Given the description of an element on the screen output the (x, y) to click on. 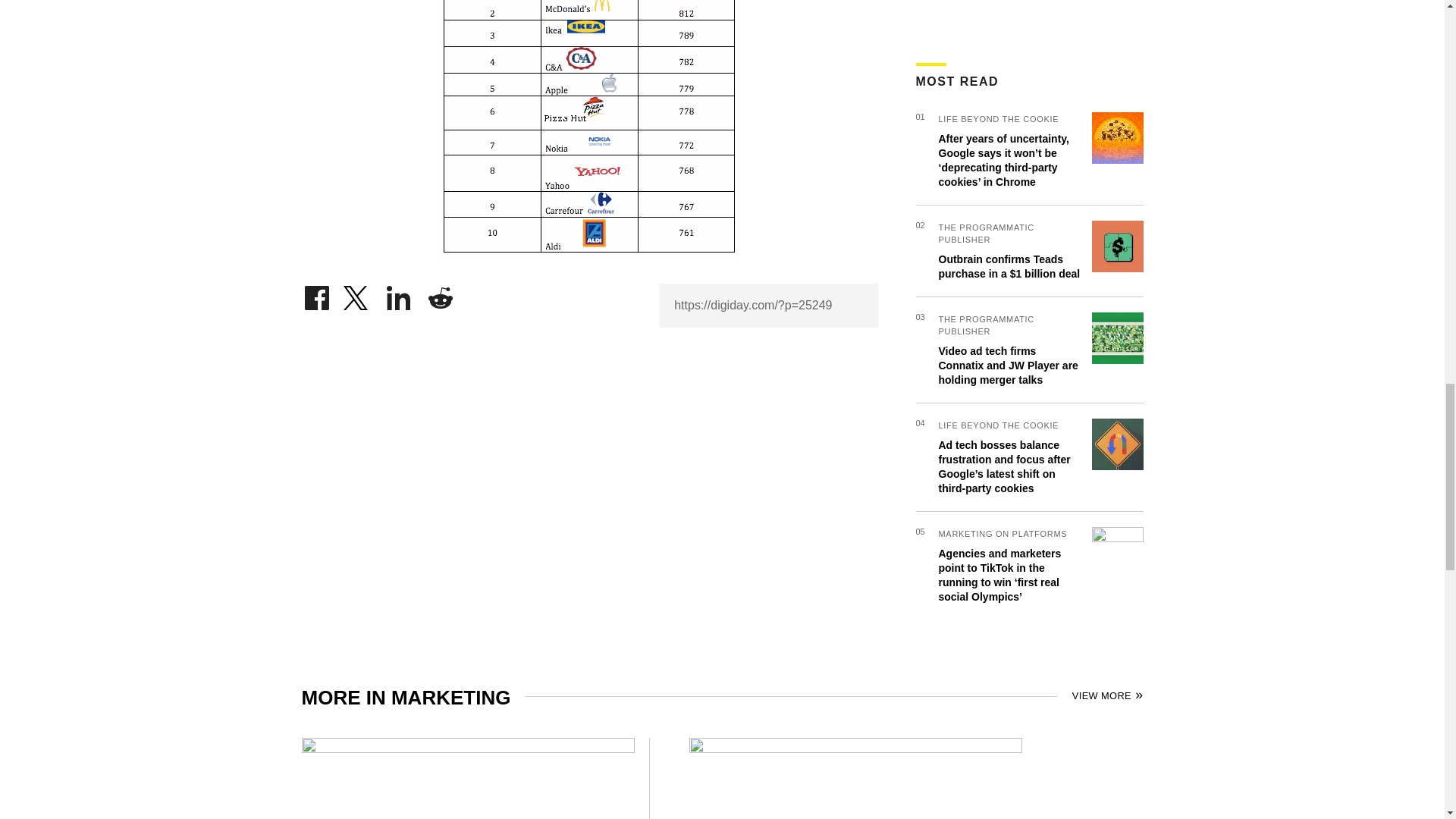
Share on LinkedIn (398, 294)
brandsimp (588, 130)
Share on Reddit (440, 294)
Share on Facebook (316, 294)
Share on Twitter (357, 294)
